Given the description of an element on the screen output the (x, y) to click on. 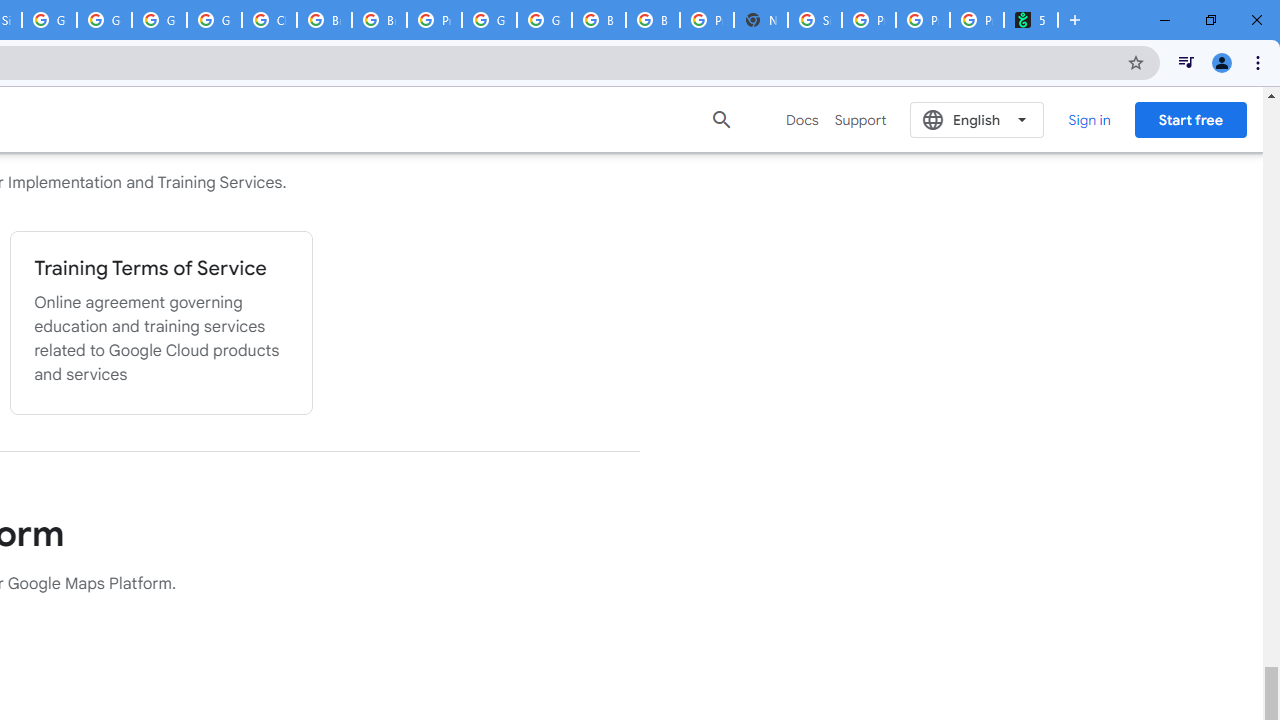
Support (860, 119)
